Given the description of an element on the screen output the (x, y) to click on. 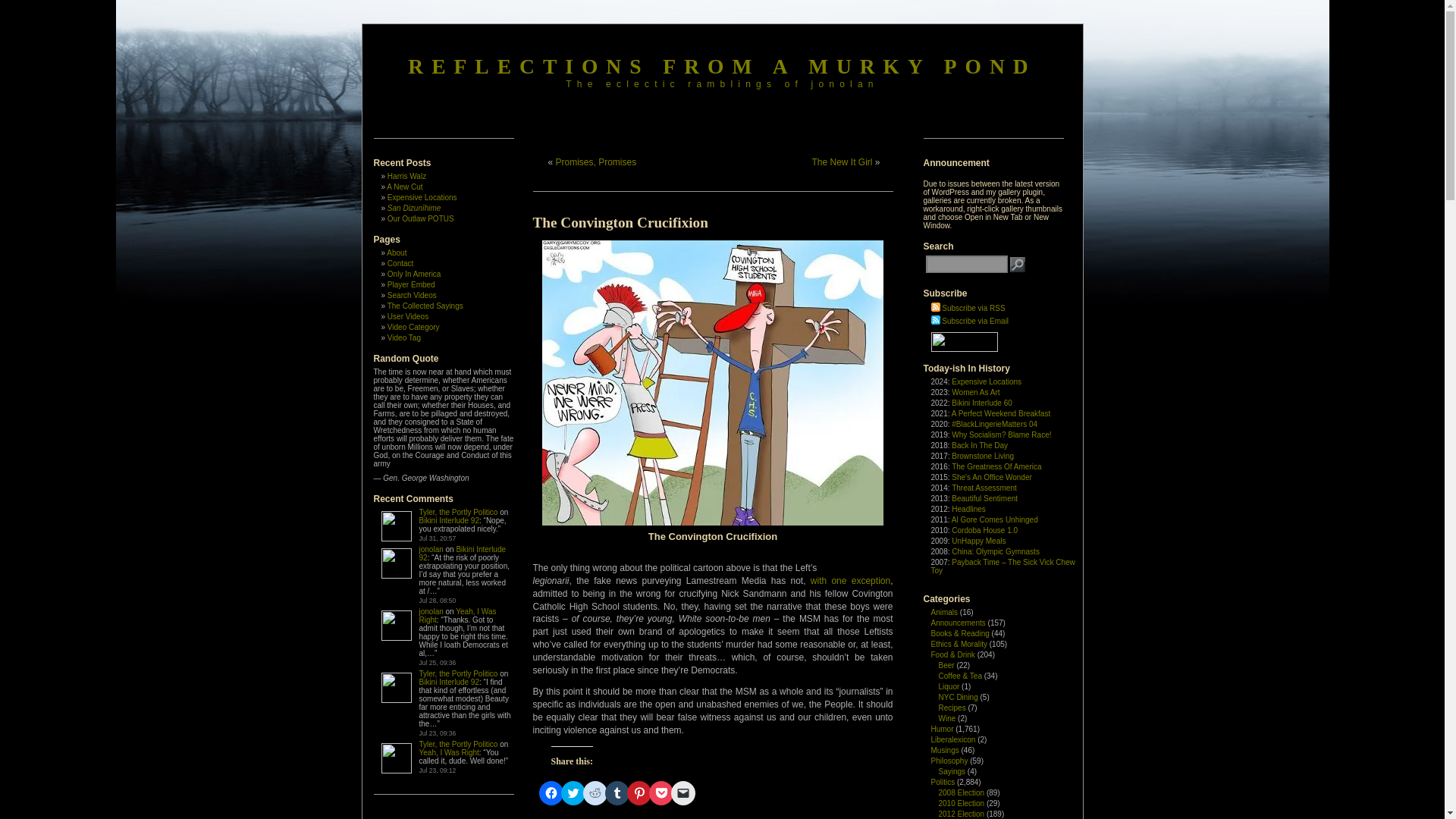
Only In America (414, 274)
Bikini Interlude 92 (462, 553)
Video Tag (403, 337)
Bikini Interlude 92 (449, 520)
Yeah, I Was Right (449, 752)
REFLECTIONS FROM A MURKY POND (721, 65)
Player Embed (411, 284)
The Convington Crucifixion (619, 222)
Tyler, the Portly Politico (458, 511)
The Collected Sayings (425, 306)
